Given the description of an element on the screen output the (x, y) to click on. 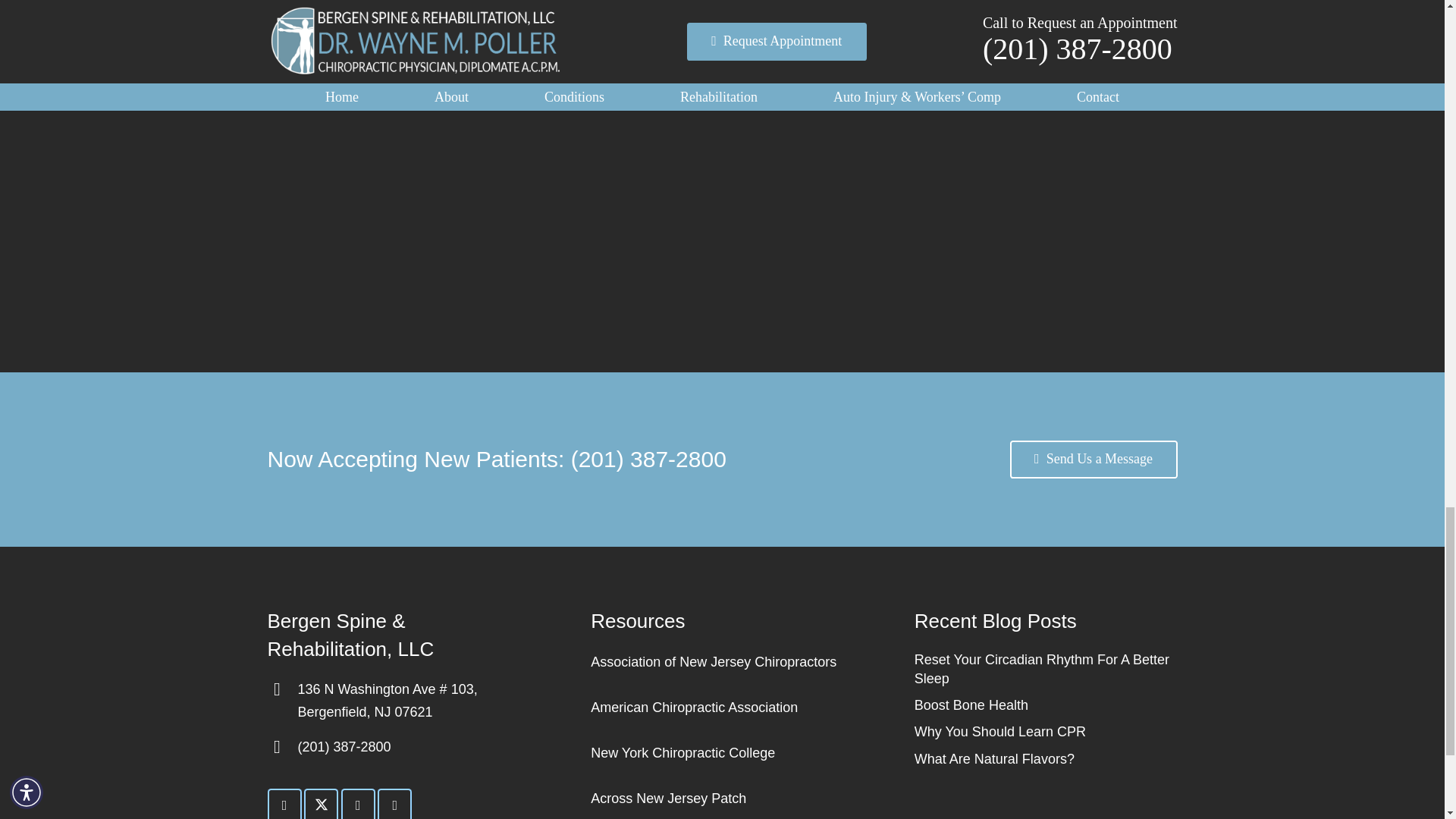
Boost Bone Health (970, 704)
Google (357, 803)
Across New Jersey Patch (668, 798)
Facebook (283, 803)
Association of New Jersey Chiropractors (713, 661)
Reset Your Circadian Rhythm For A Better Sleep (1041, 668)
New York Chiropractic College (682, 752)
Why You Should Learn CPR (1000, 731)
American Chiropractic Association (694, 707)
YouTube (394, 803)
Send Us a Message (1093, 459)
Twitter (320, 803)
